Given the description of an element on the screen output the (x, y) to click on. 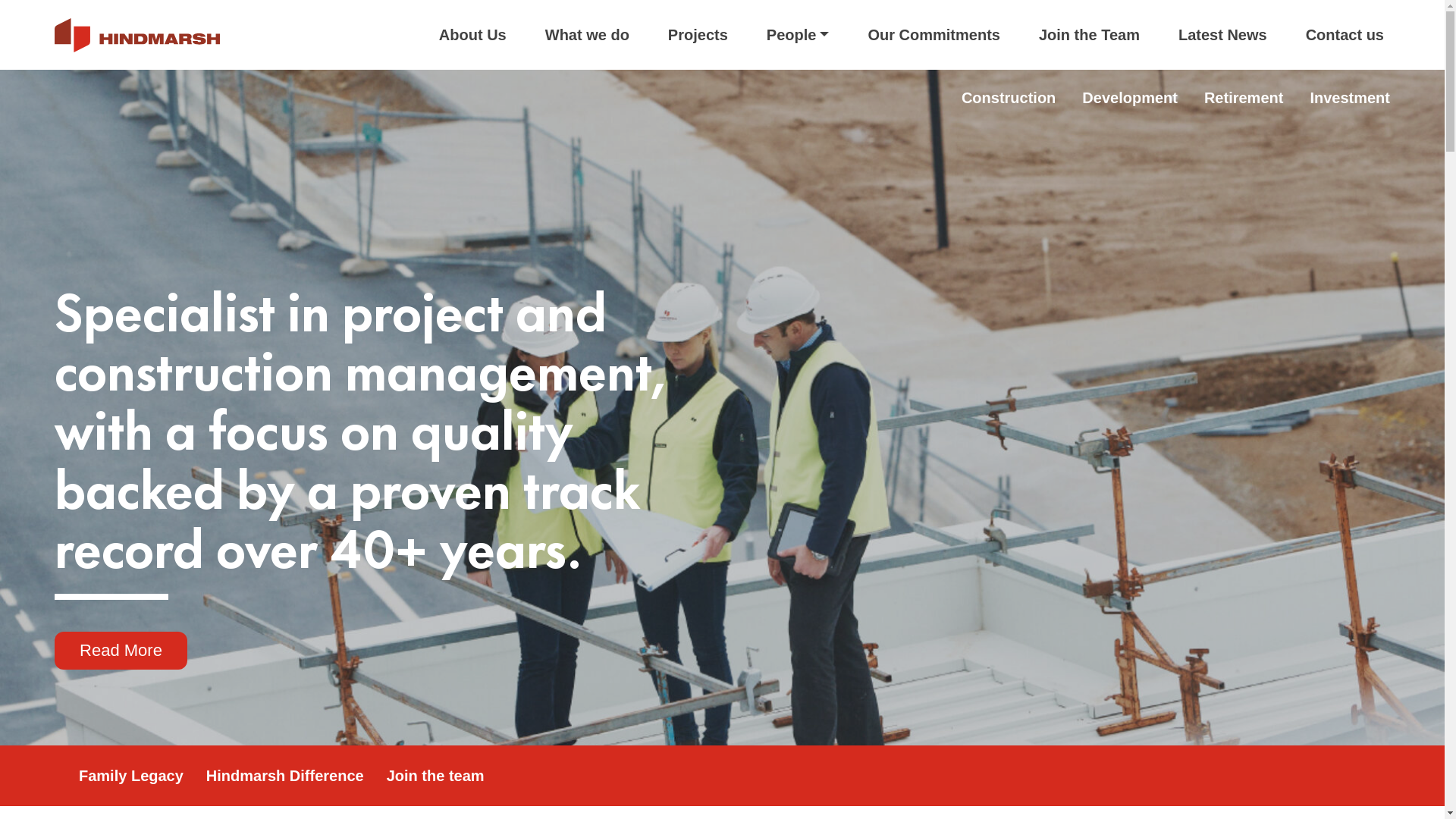
Investment Element type: text (1349, 97)
Family Legacy Element type: text (130, 775)
People Element type: text (797, 34)
Read More Element type: text (120, 650)
Join the team Element type: text (435, 775)
Our Commitments Element type: text (933, 34)
Hindmarsh Difference Element type: text (285, 775)
About Us Element type: text (472, 34)
Contact us Element type: text (1344, 34)
What we do Element type: text (587, 34)
Projects Element type: text (698, 34)
Retirement Element type: text (1243, 97)
Latest News Element type: text (1222, 34)
Development Element type: text (1129, 97)
Hindmarsh Element type: hover (136, 35)
Construction Element type: text (1008, 97)
Join the Team Element type: text (1088, 34)
